Given the description of an element on the screen output the (x, y) to click on. 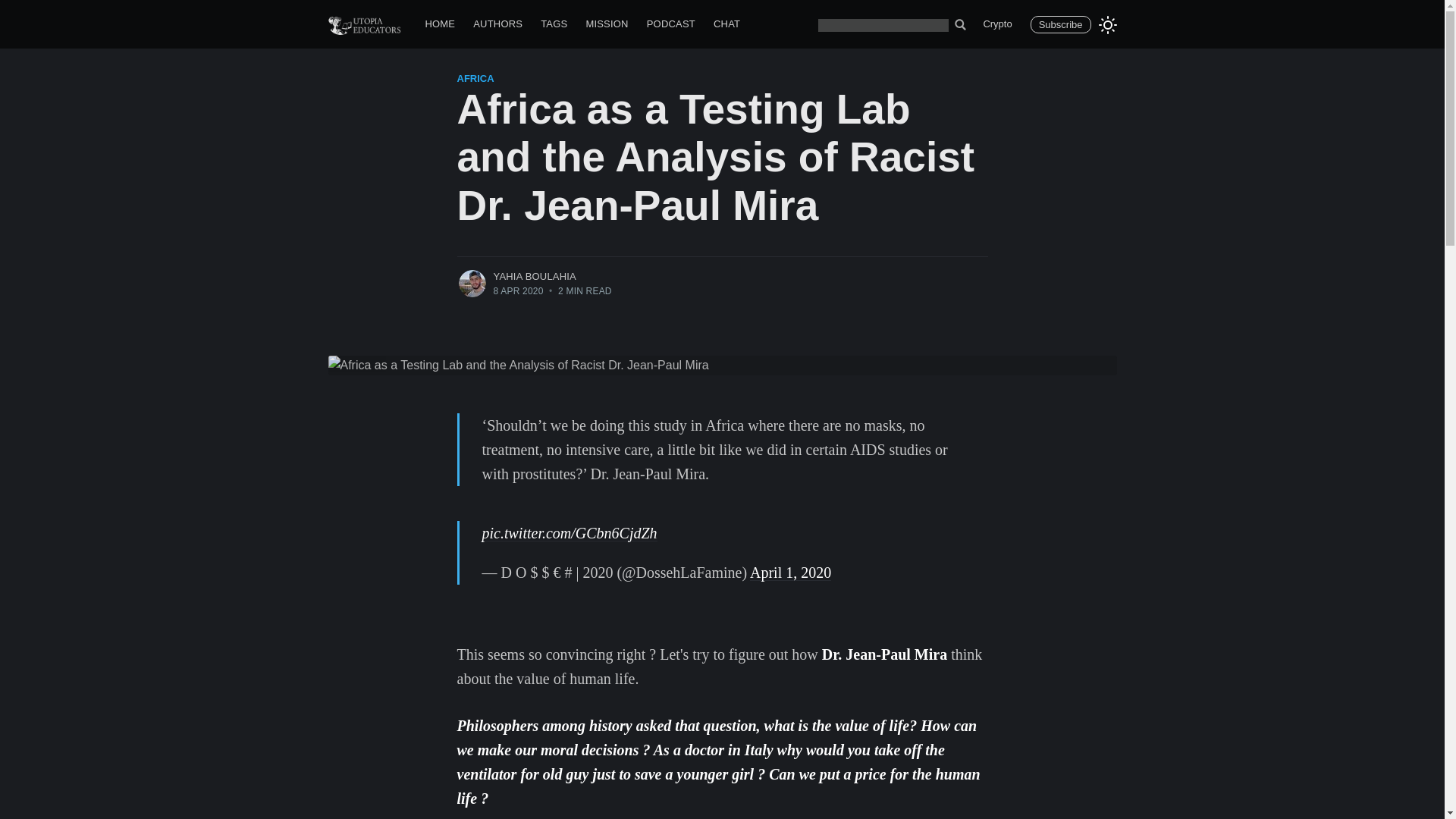
YAHIA BOULAHIA (534, 276)
TAGS (553, 24)
April 1, 2020 (790, 572)
AFRICA (475, 78)
Subscribe (1060, 23)
Crypto (997, 24)
PODCAST (670, 24)
CHAT (726, 24)
HOME (439, 24)
AUTHORS (497, 24)
MISSION (606, 24)
